Given the description of an element on the screen output the (x, y) to click on. 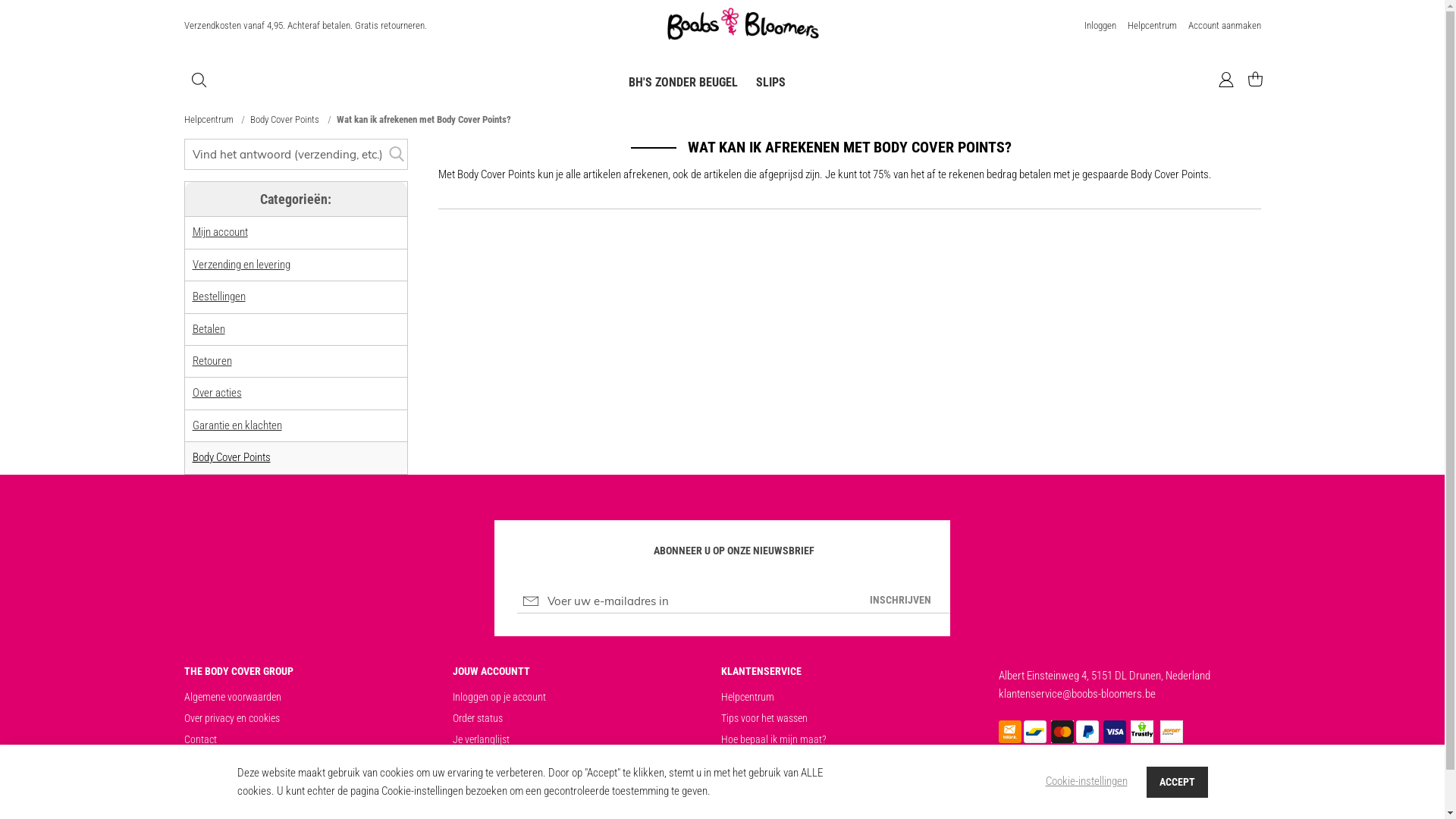
Zoek Element type: text (198, 79)
Over privacy en cookies Element type: text (231, 717)
Mijn account Element type: text (219, 231)
Body Cover Points Element type: text (489, 760)
Je verlanglijst Element type: text (479, 739)
Hoe bepaal ik mijn maat? Element type: text (772, 739)
Account Element type: hover (1225, 81)
Over acties Element type: text (216, 392)
Boobs & Bloomers Element type: hover (743, 23)
Algemene voorwaarden Element type: text (231, 696)
Helpcentrum Element type: text (746, 696)
ACCEPT Element type: text (1177, 781)
Over verzending Element type: text (752, 760)
Garantie en klachten Element type: text (237, 425)
Inloggen Element type: text (1100, 25)
Retourneren Element type: text (745, 781)
Order status Element type: text (476, 717)
Winkelwagen Element type: text (1247, 79)
SLIPS Element type: text (770, 81)
BH'S ZONDER BEUGEL Element type: text (682, 81)
Cookie-instellingen Element type: text (1085, 781)
Betalen Element type: text (208, 328)
Body Cover Points Element type: text (231, 457)
Zoek Element type: hover (396, 153)
Helpcentrum Element type: text (1151, 25)
Helpcentrum Element type: text (209, 119)
Bestellingen Element type: text (218, 296)
Account aanmaken Element type: text (1223, 25)
Tips voor het wassen Element type: text (763, 717)
Inloggen op je account Element type: text (498, 696)
Contact Element type: text (199, 739)
Body Cover Points Element type: text (285, 119)
Verzending en levering Element type: text (241, 264)
Boobs & Bloomers Element type: hover (743, 25)
Retouren Element type: text (212, 360)
INSCHRIJVEN Element type: text (900, 600)
Zoek Element type: hover (295, 153)
